Given the description of an element on the screen output the (x, y) to click on. 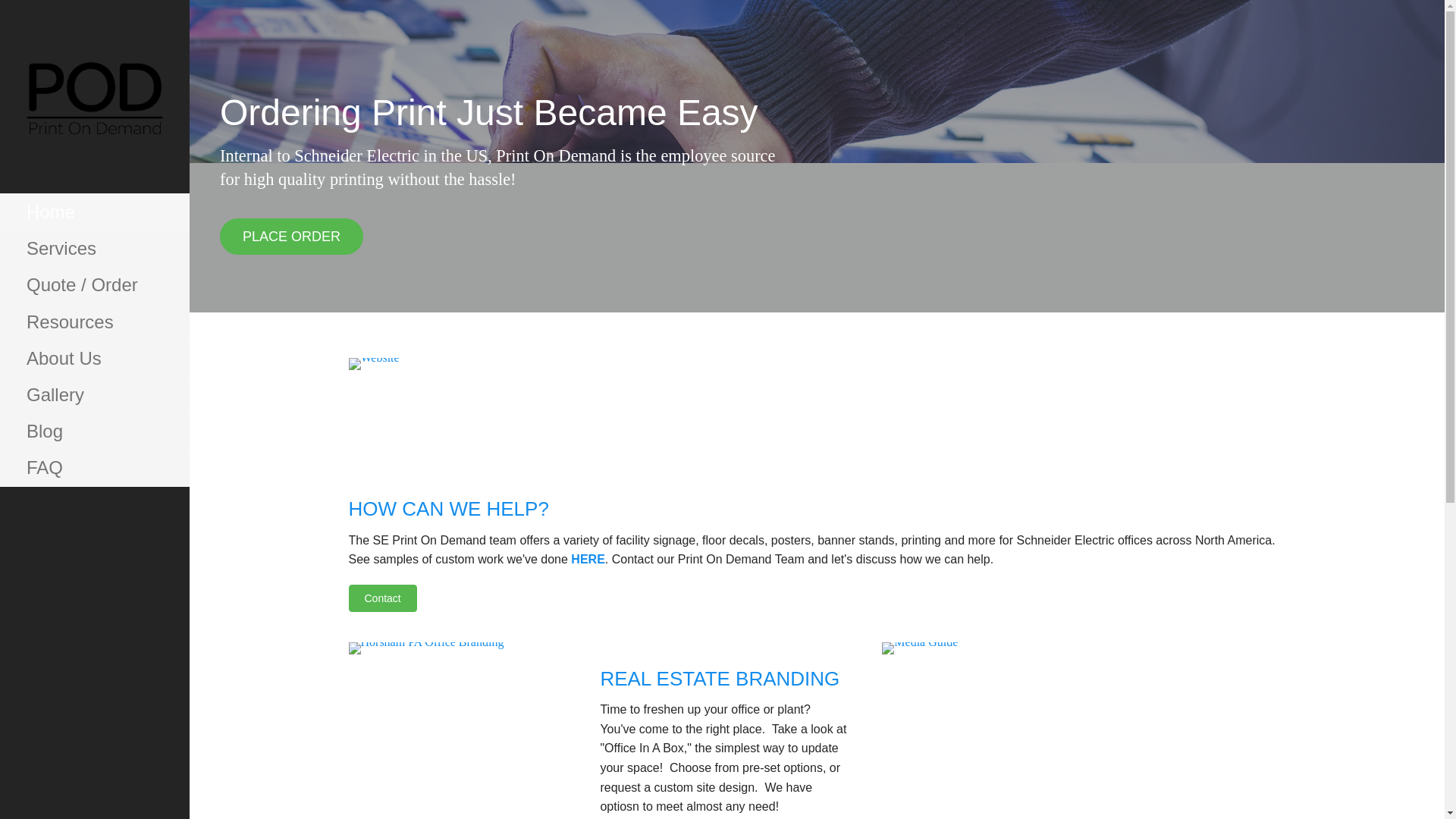
About Us (94, 358)
Gallery (94, 394)
Services (94, 248)
Blog (94, 431)
FAQ (94, 467)
REAL ESTATE BRANDING (719, 678)
PLACE ORDER (290, 236)
Website (462, 414)
Contact (382, 597)
